Given the description of an element on the screen output the (x, y) to click on. 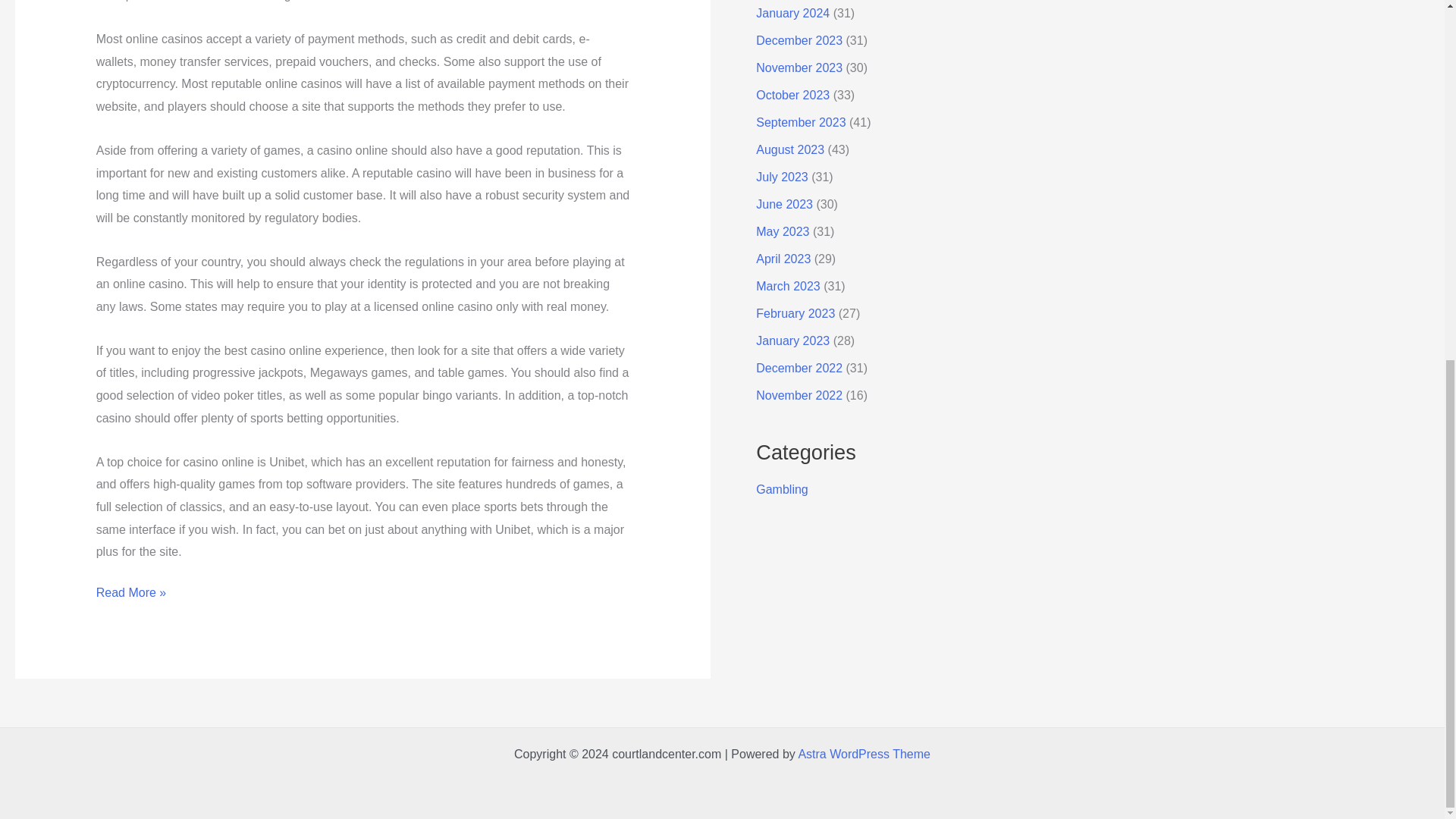
Gambling (781, 489)
February 2023 (794, 313)
October 2023 (792, 94)
April 2023 (782, 258)
December 2022 (799, 367)
July 2023 (781, 176)
September 2023 (800, 122)
June 2023 (783, 204)
August 2023 (789, 149)
May 2023 (782, 231)
